Given the description of an element on the screen output the (x, y) to click on. 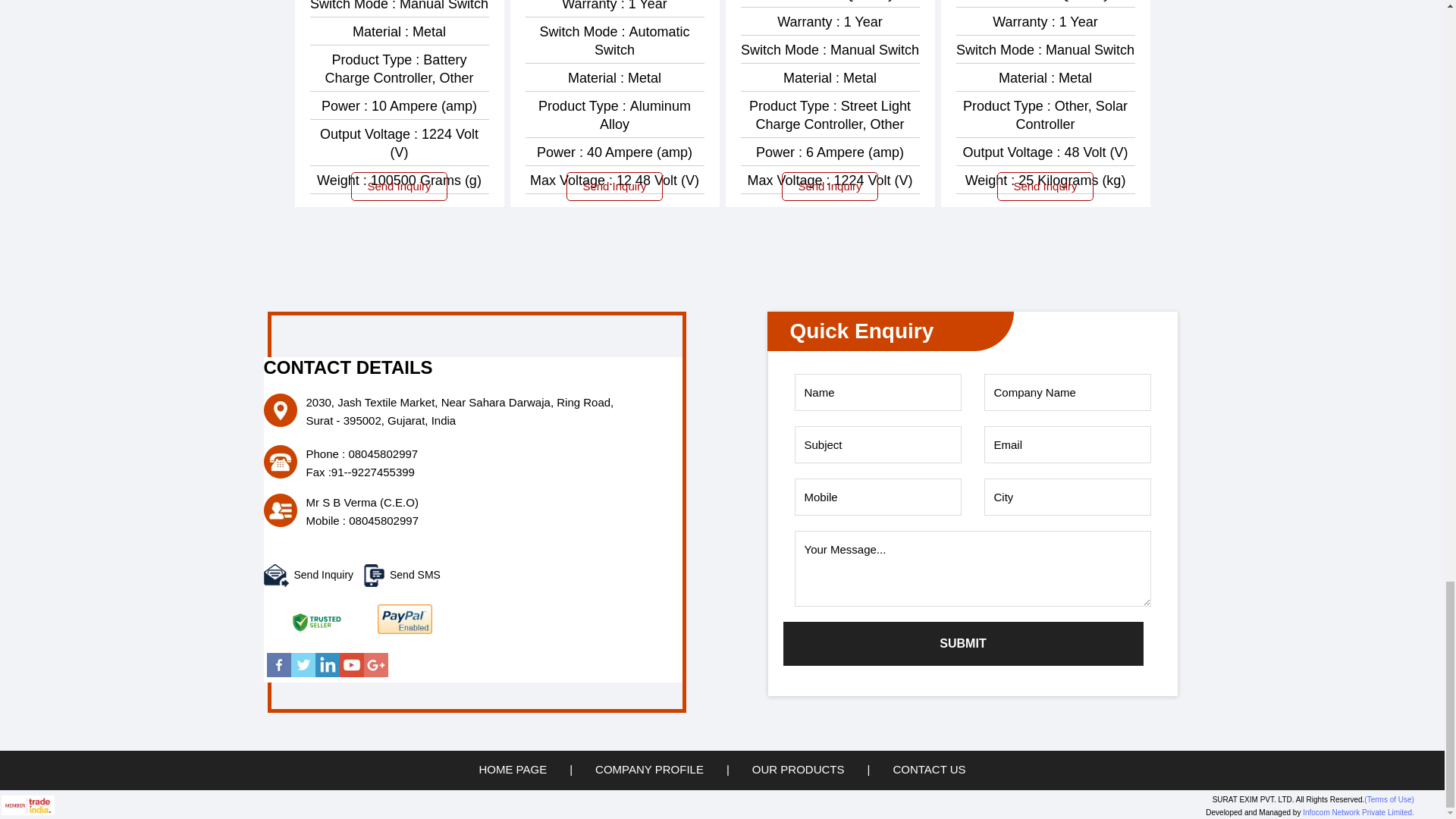
Twitter (303, 672)
Email (1067, 444)
LinkedIn (327, 672)
Google Plus (376, 672)
City (1067, 496)
Accepts payment through paypal (404, 629)
Subject (877, 444)
Mobile (877, 496)
Company Name (1067, 392)
You Tube (351, 672)
Name (877, 392)
Submit (962, 643)
Accepts payment through paypal (404, 618)
Facebook (278, 672)
